Given the description of an element on the screen output the (x, y) to click on. 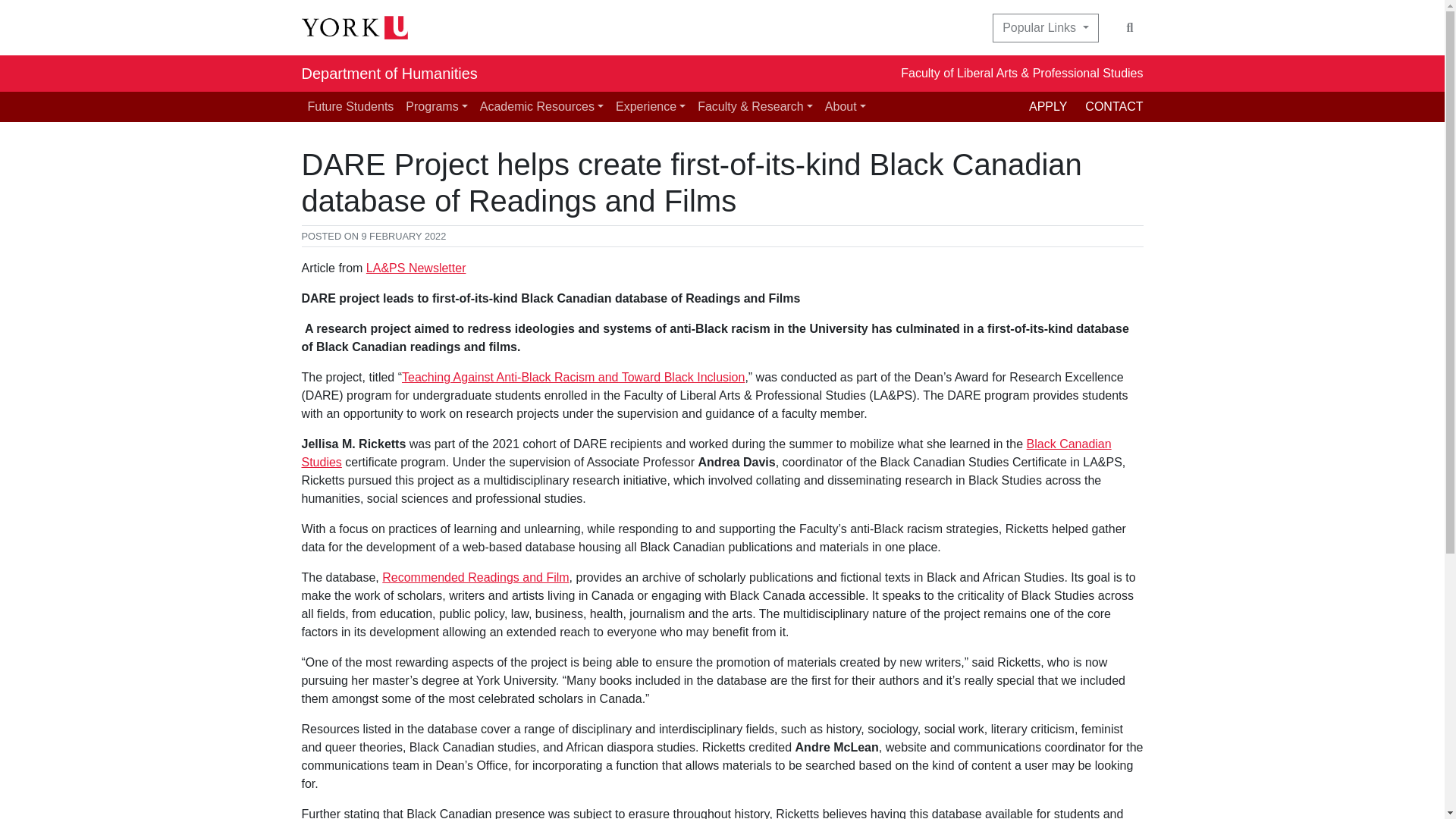
Academic Resources (542, 106)
Experience (650, 106)
Department of Humanities (389, 73)
Programs (435, 106)
Popular Links (1044, 27)
Search (1129, 27)
Future Students (350, 106)
